Given the description of an element on the screen output the (x, y) to click on. 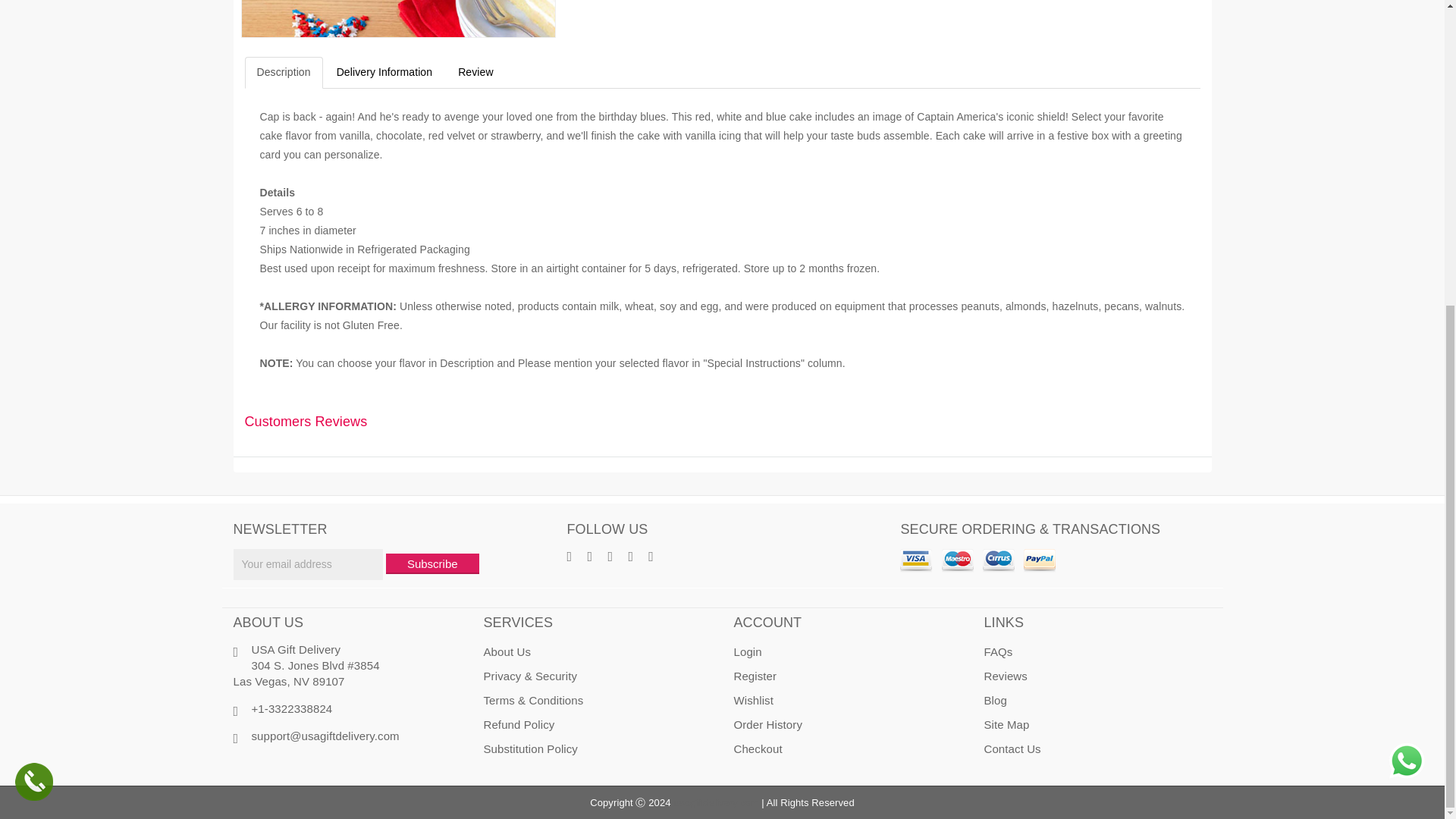
Captain America Cake (397, 18)
fb:like Facebook Social Plugin (403, 762)
